Given the description of an element on the screen output the (x, y) to click on. 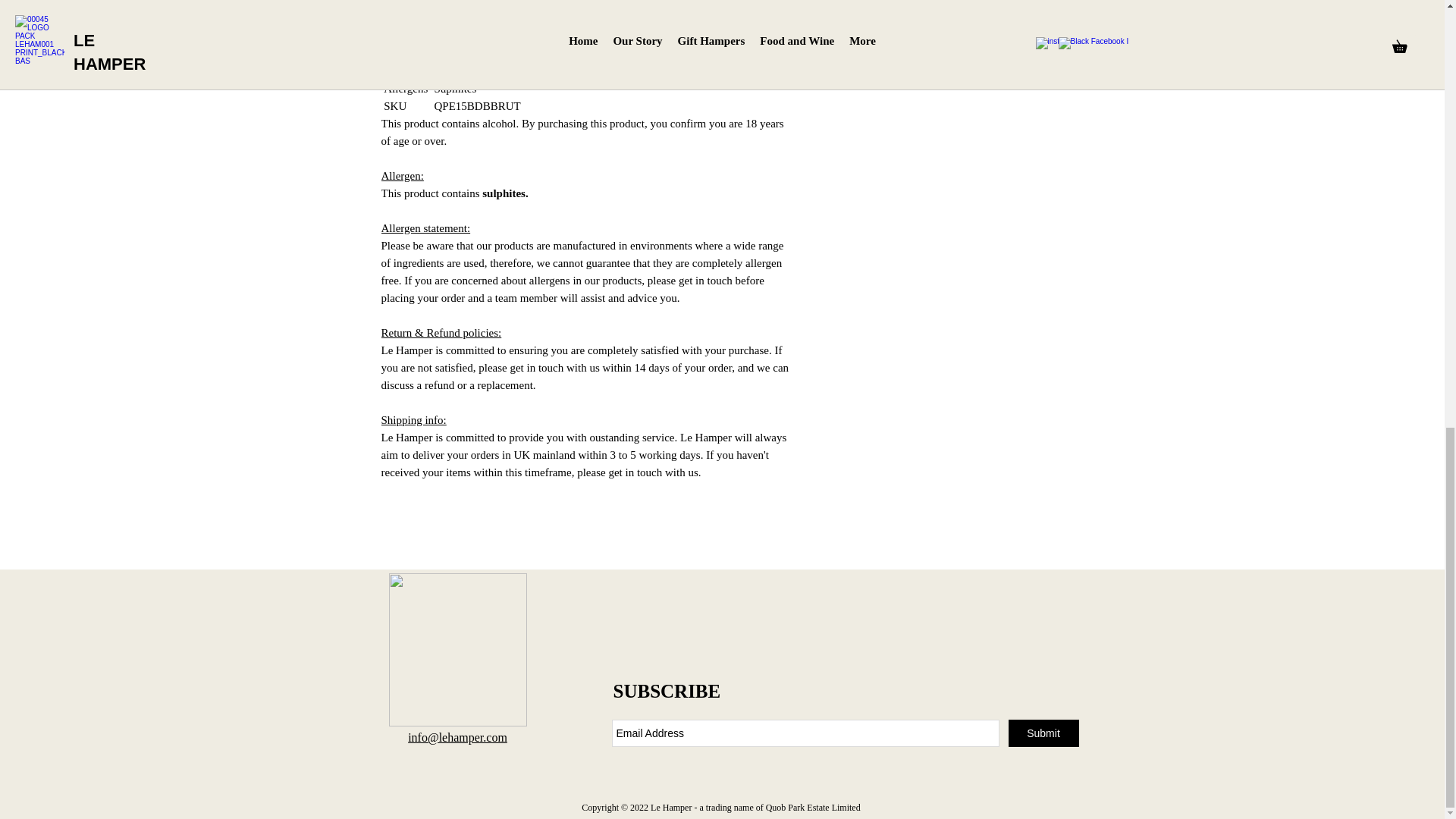
Submit (1043, 732)
